Given the description of an element on the screen output the (x, y) to click on. 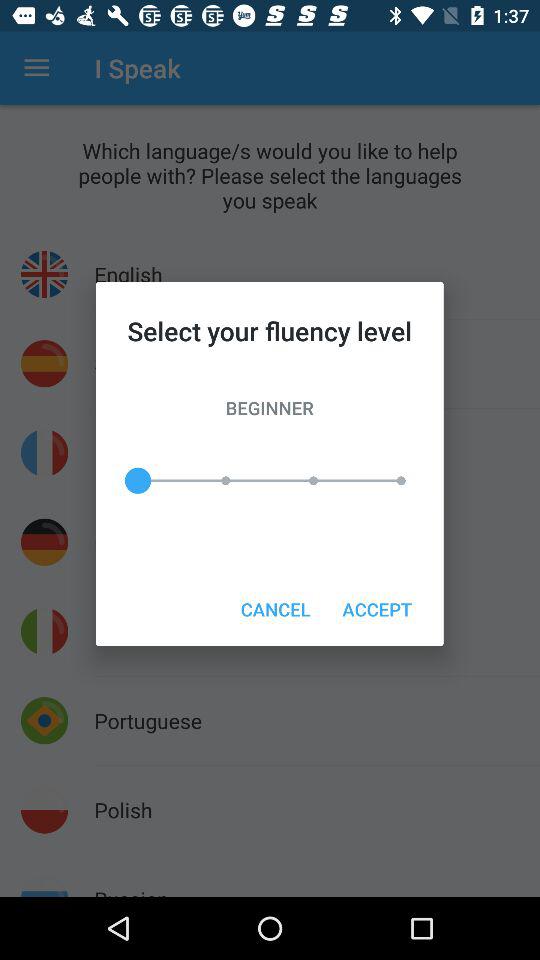
select the icon next to the accept (275, 608)
